Given the description of an element on the screen output the (x, y) to click on. 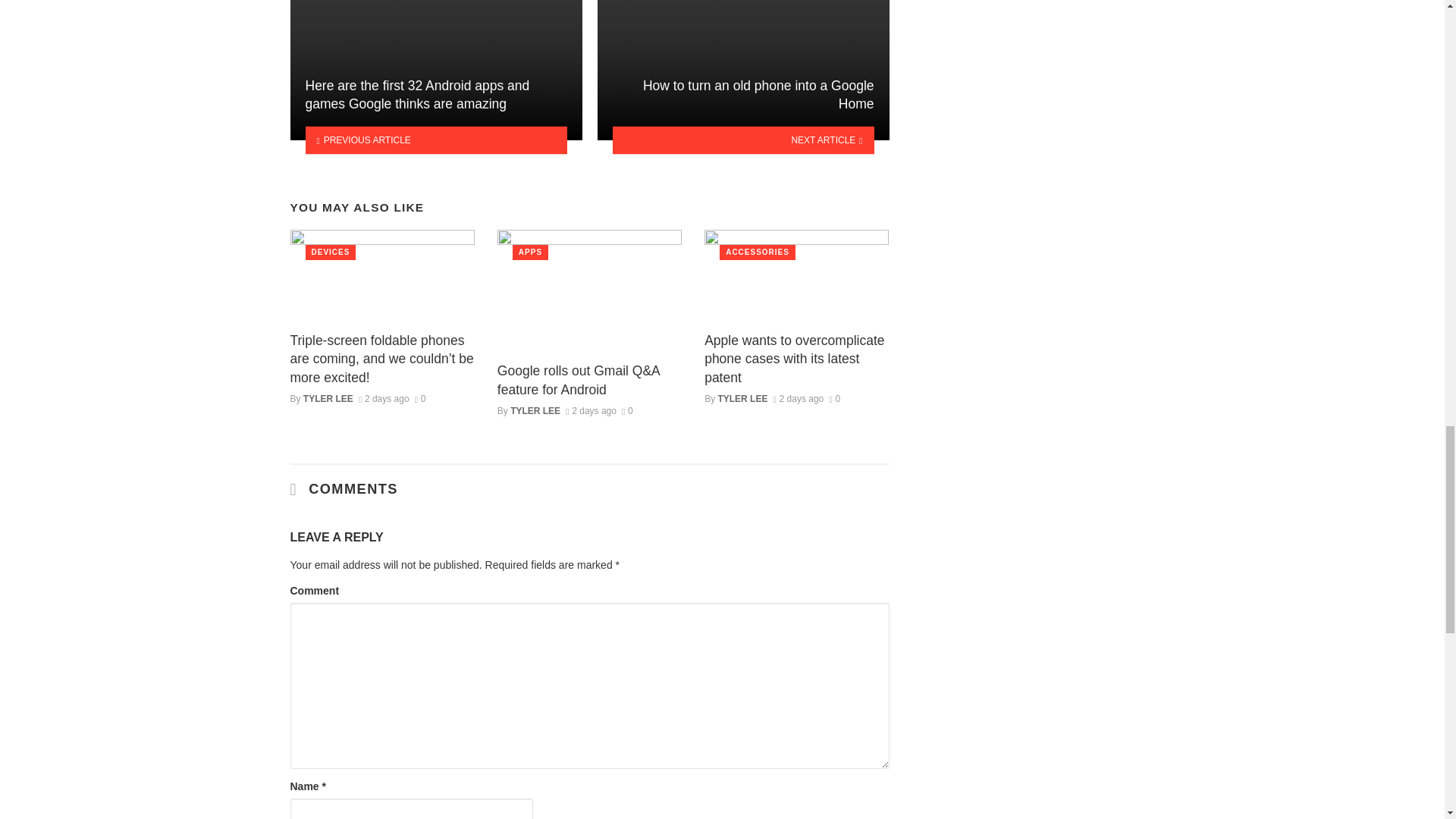
0 Comments (420, 398)
August 30, 2024 at 5:34 am (798, 398)
August 30, 2024 at 7:28 am (383, 398)
0 Comments (834, 398)
August 30, 2024 at 6:43 am (590, 410)
0 Comments (627, 410)
